Given the description of an element on the screen output the (x, y) to click on. 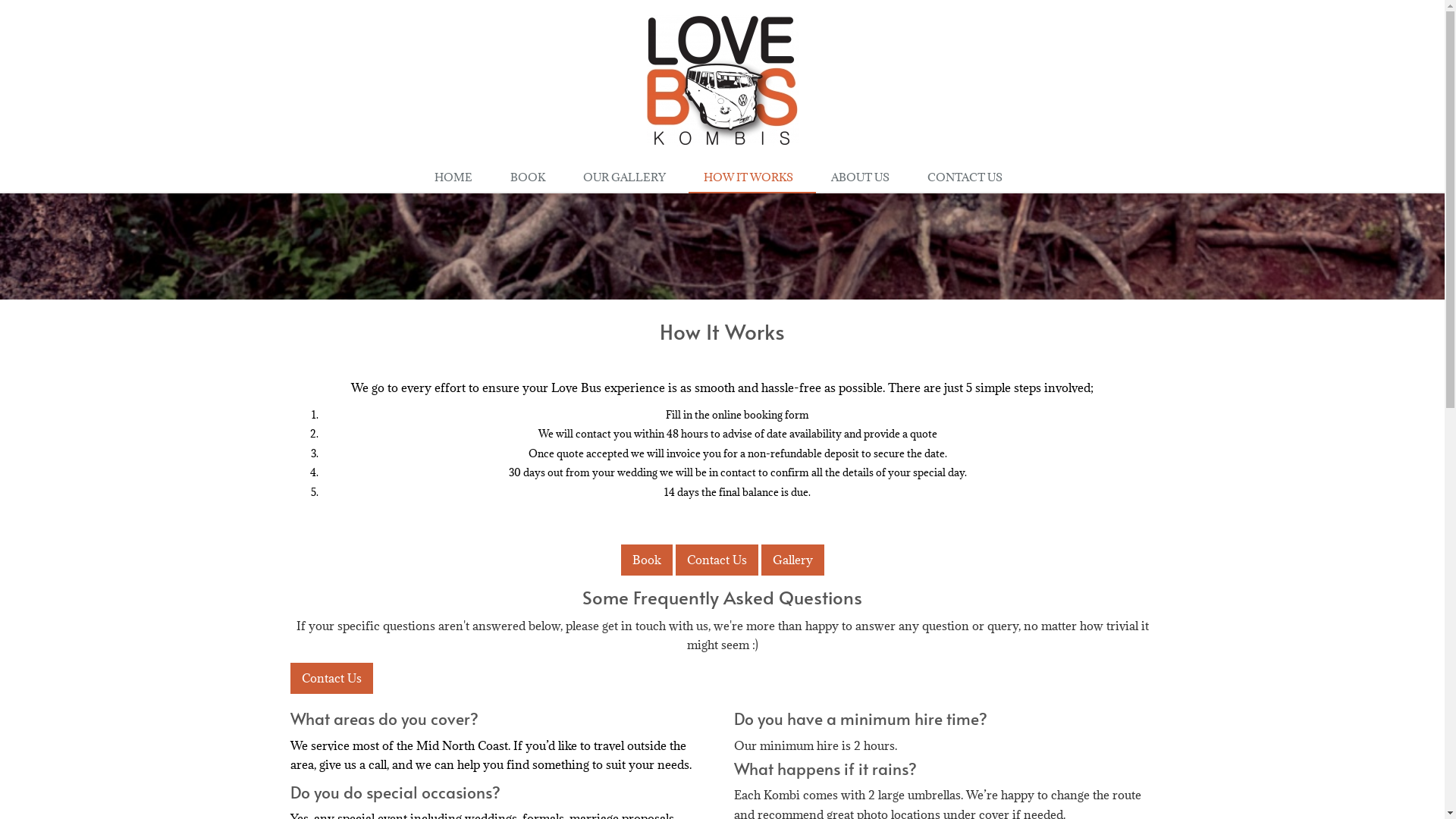
HOW IT WORKS Element type: text (751, 178)
OUR GALLERY Element type: text (627, 178)
Book Element type: text (645, 560)
ABOUT US Element type: text (863, 178)
Contact Us Element type: text (715, 560)
CONTACT US Element type: text (968, 178)
Gallery Element type: text (792, 560)
BOOK Element type: text (531, 178)
Contact Us Element type: text (330, 678)
HOME Element type: text (457, 178)
